Given the description of an element on the screen output the (x, y) to click on. 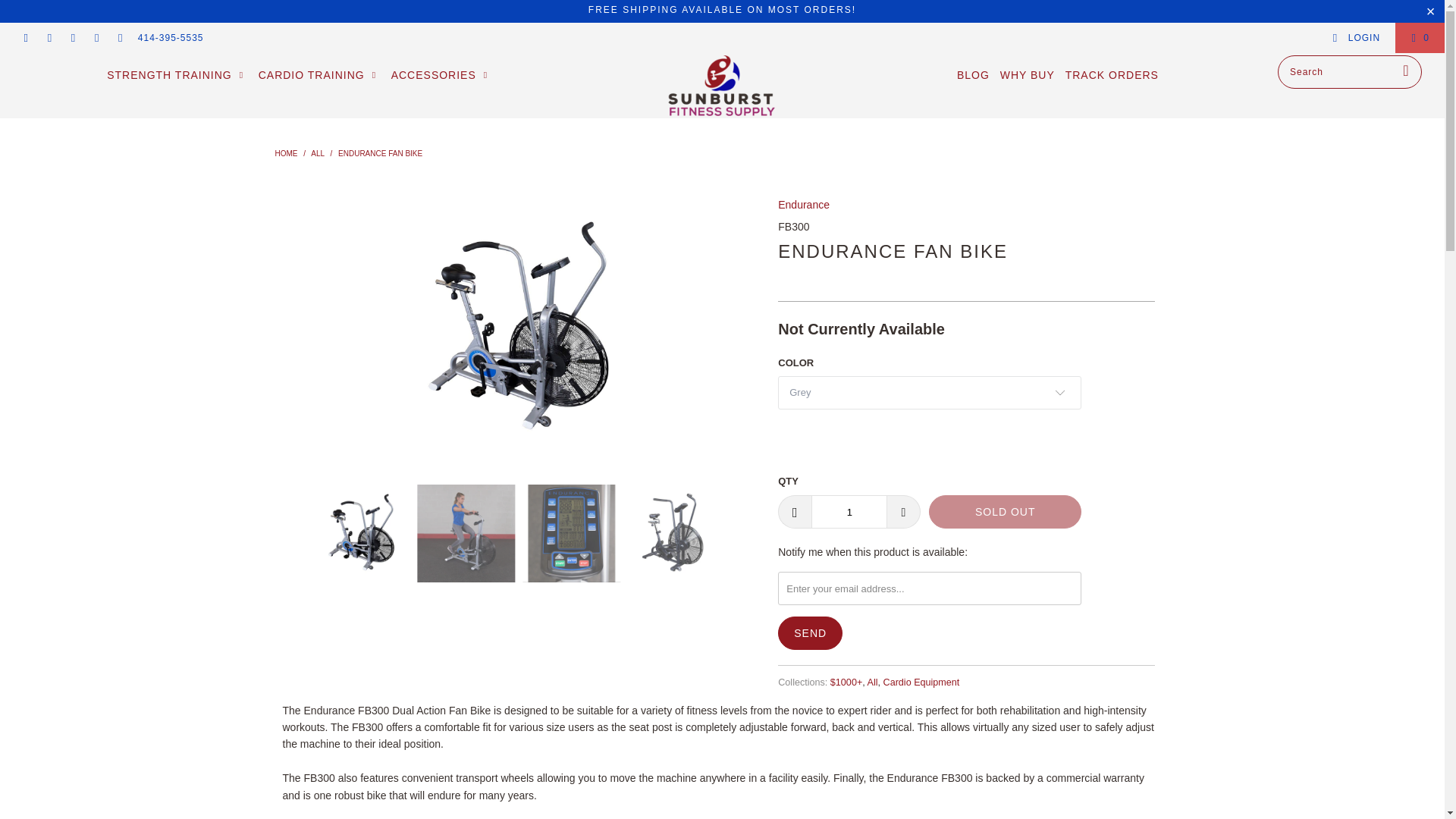
Sunburst Fitness Supply (286, 153)
Endurance (803, 204)
All (872, 682)
Cardio Equipment (921, 682)
1 (848, 511)
Send (810, 633)
Email Sunburst Fitness Supply (119, 37)
Sunburst Fitness Supply on Instagram (94, 37)
All (317, 153)
Sunburst Fitness Supply on Facebook (48, 37)
My Account  (1355, 37)
Sunburst Fitness Supply on Twitter (25, 37)
Sunburst Fitness Supply (722, 85)
Sunburst Fitness Supply on Pinterest (71, 37)
